Given the description of an element on the screen output the (x, y) to click on. 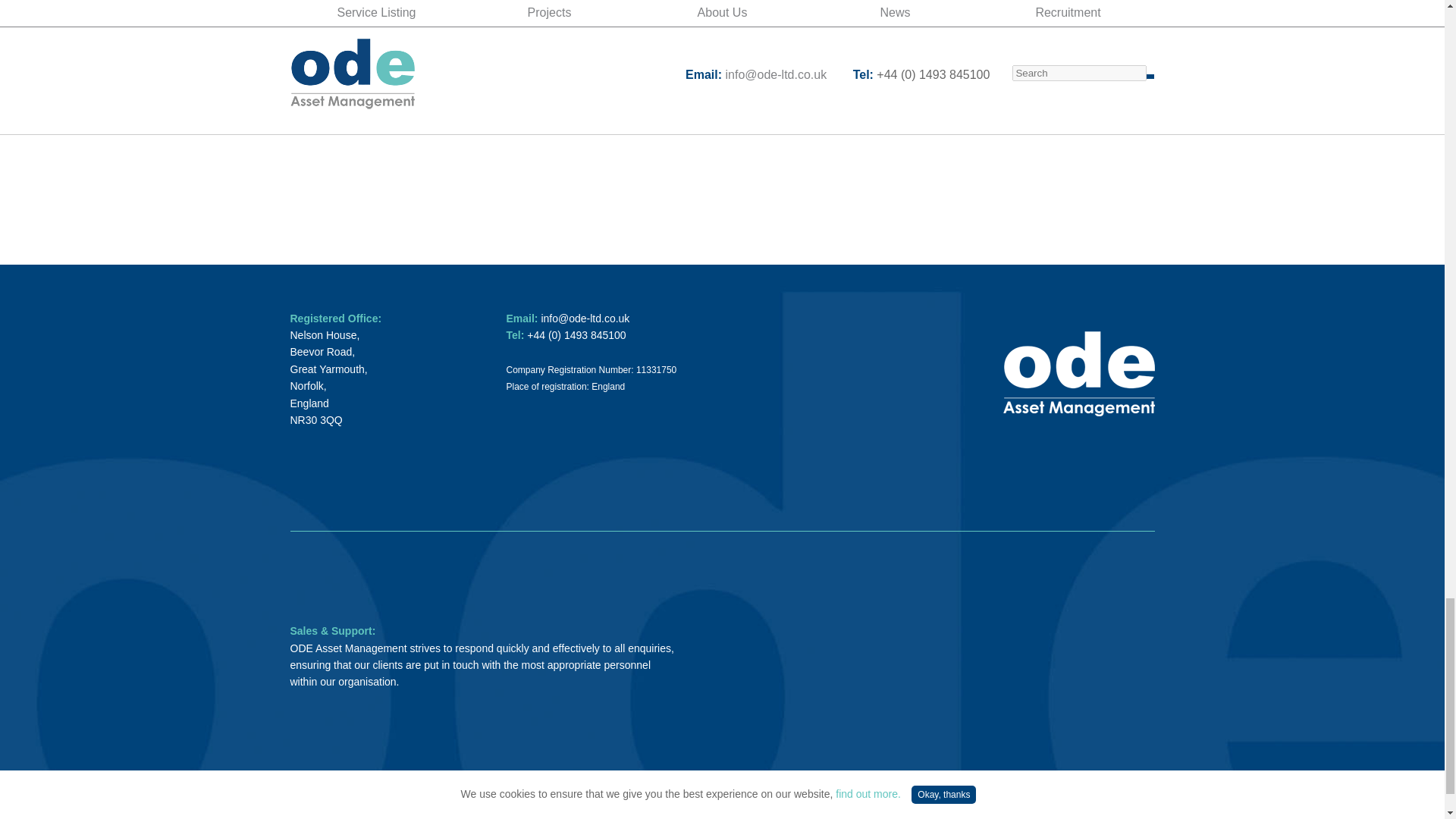
TMS Media Limited (565, 801)
ODE Home (1078, 411)
